Given the description of an element on the screen output the (x, y) to click on. 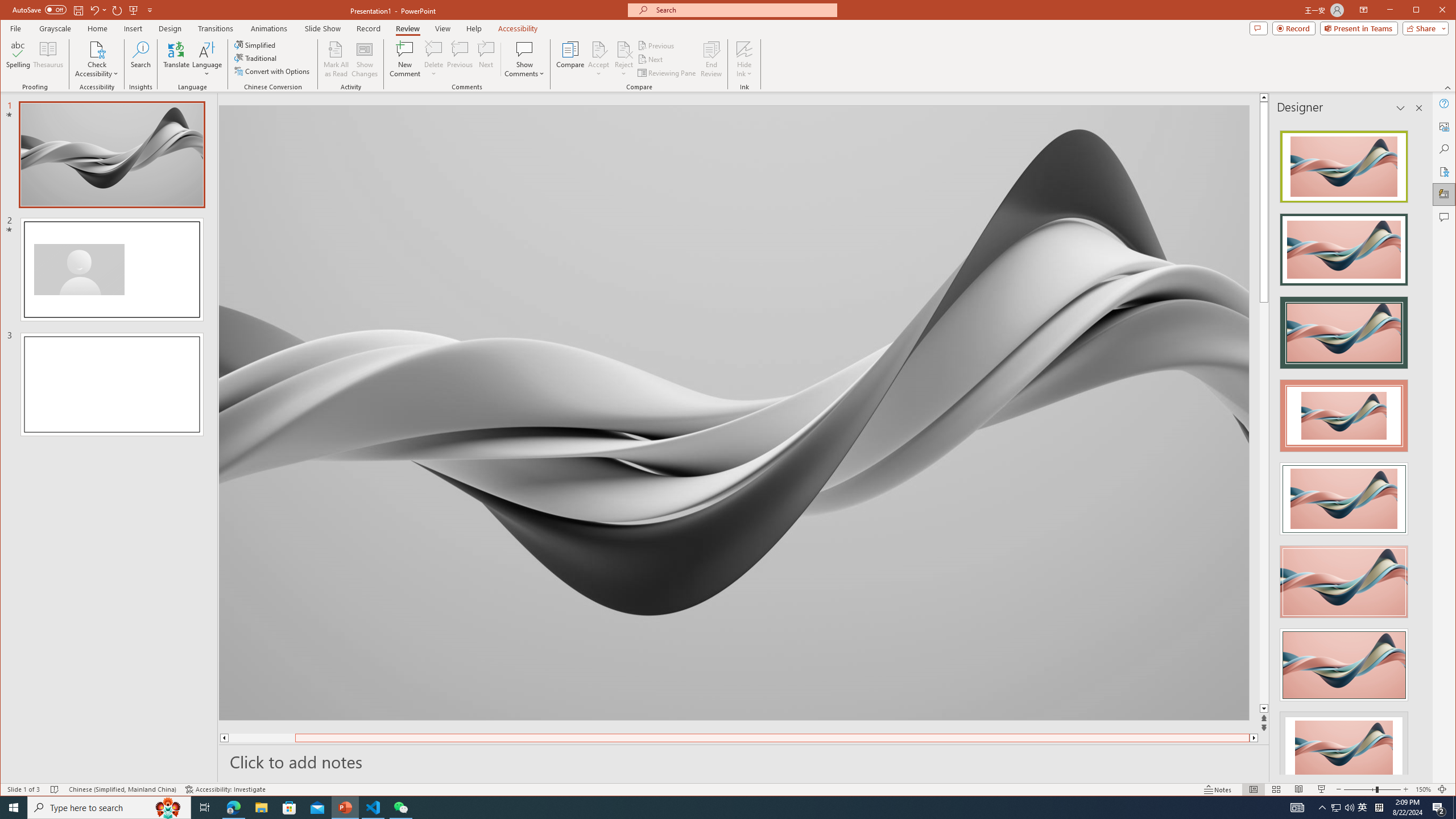
Class: NetUIScrollBar (1417, 447)
Translate (175, 59)
Mark All as Read (335, 59)
Accept (598, 59)
